Given the description of an element on the screen output the (x, y) to click on. 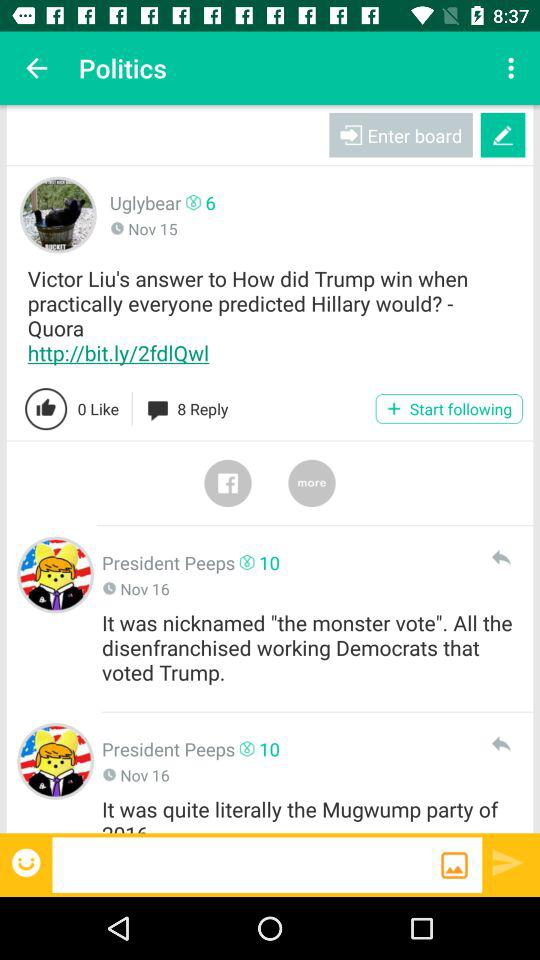
type text (246, 864)
